Given the description of an element on the screen output the (x, y) to click on. 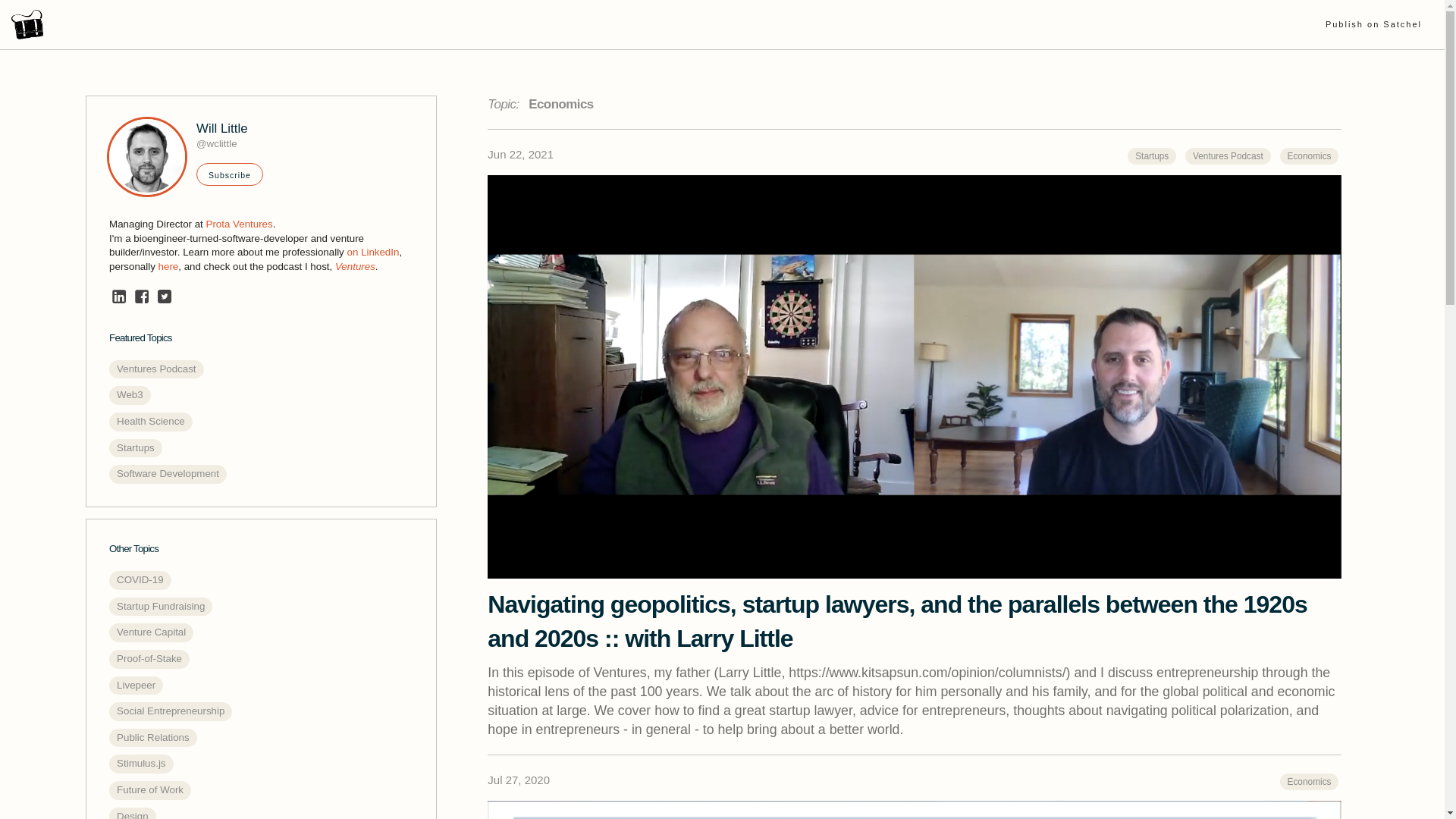
Startup Fundraising (160, 606)
Stimulus.js (141, 763)
Prota Ventures (239, 224)
Publish on Satchel (1373, 23)
Will Little (221, 128)
Design (132, 813)
Startups (135, 447)
Social Entrepreneurship (170, 711)
Public Relations (152, 737)
Venture Capital (151, 632)
Health Science (150, 421)
Ventures Podcast (156, 369)
here (168, 266)
Livepeer (136, 685)
Ventures (354, 266)
